Given the description of an element on the screen output the (x, y) to click on. 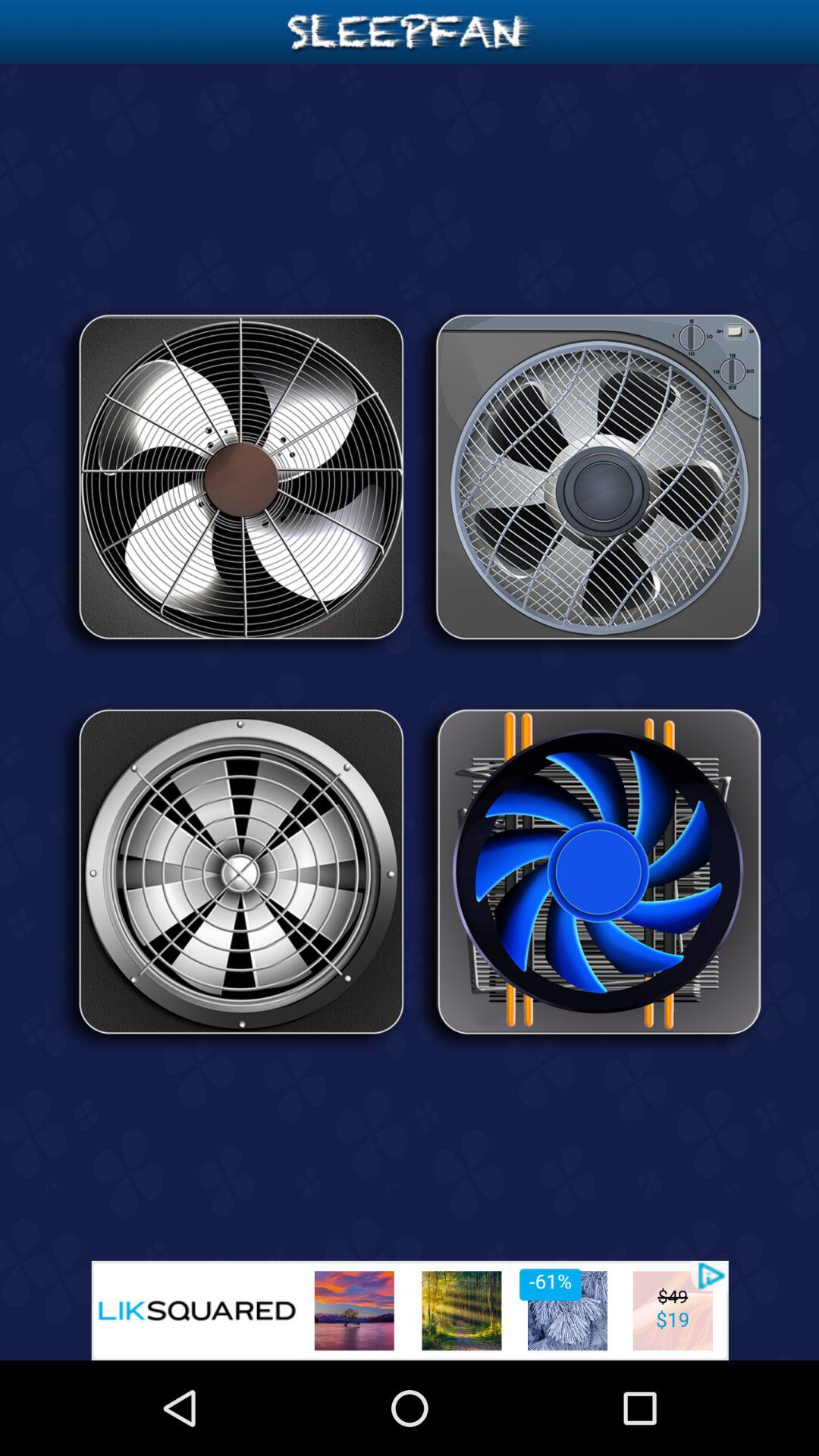
toggle fan sound (587, 482)
